Given the description of an element on the screen output the (x, y) to click on. 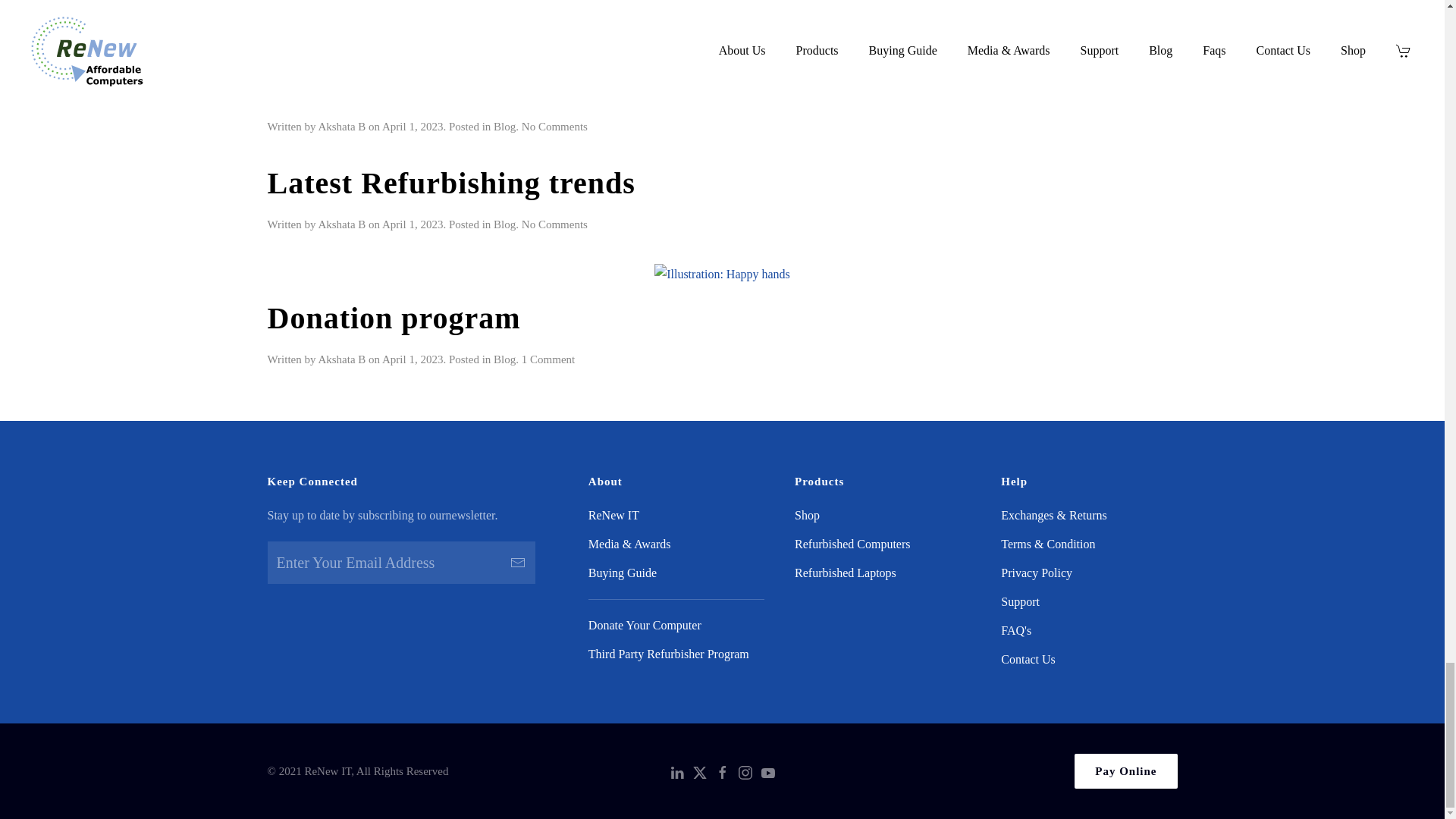
Subscribe (517, 562)
